Given the description of an element on the screen output the (x, y) to click on. 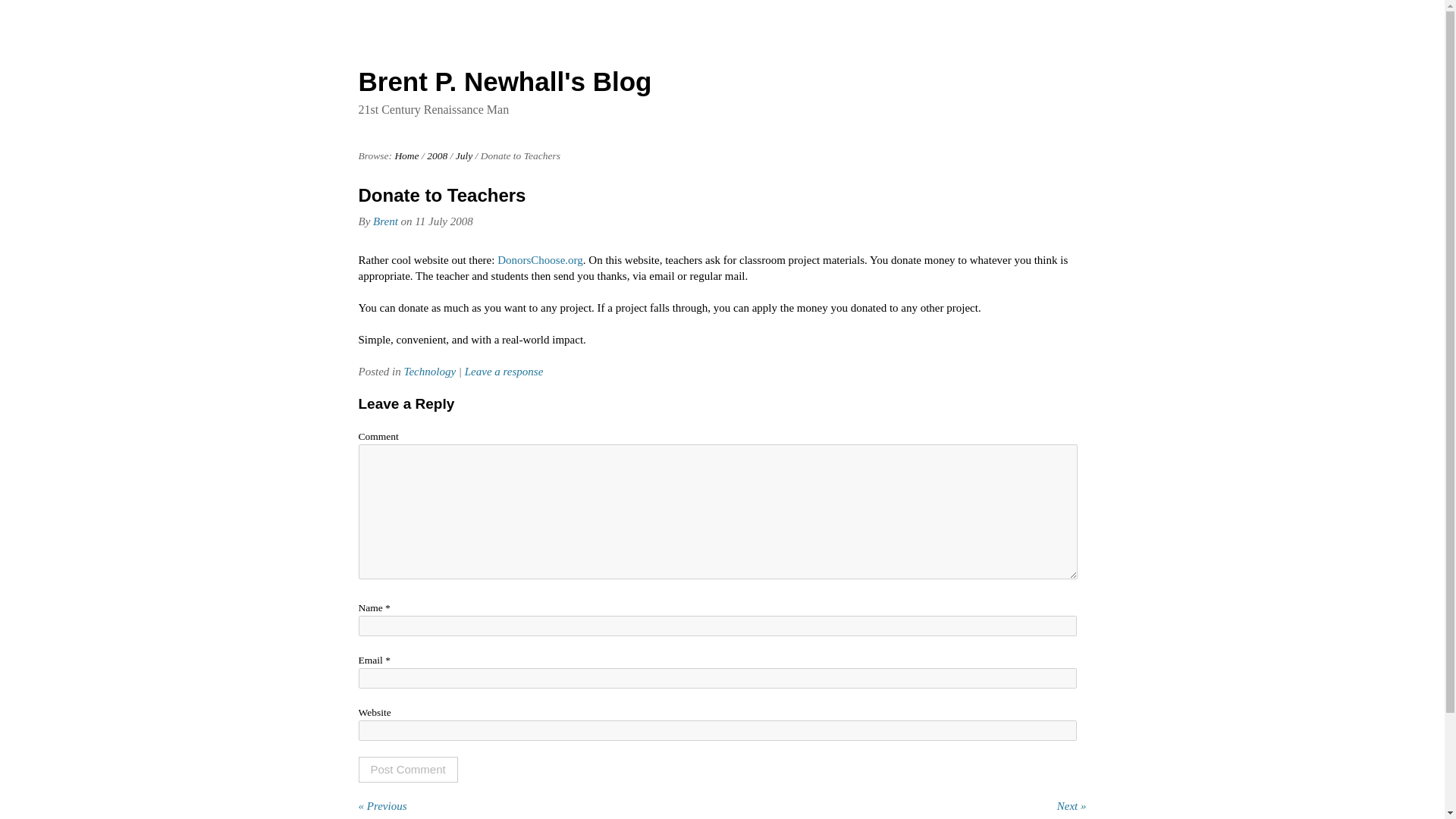
Post Comment (407, 769)
Brent P. Newhall's Blog (504, 81)
Home (406, 155)
Post Comment (407, 769)
2008 (436, 155)
Brent P. Newhall's Blog (504, 81)
Technology (429, 371)
2008 (436, 155)
Leave a response (503, 371)
Brent P. Newhall's Blog (406, 155)
Donate to Teachers (441, 195)
Friday, July 11th, 2008, 12:00 am (442, 221)
July (464, 155)
Brent (384, 221)
July 2008 (464, 155)
